Given the description of an element on the screen output the (x, y) to click on. 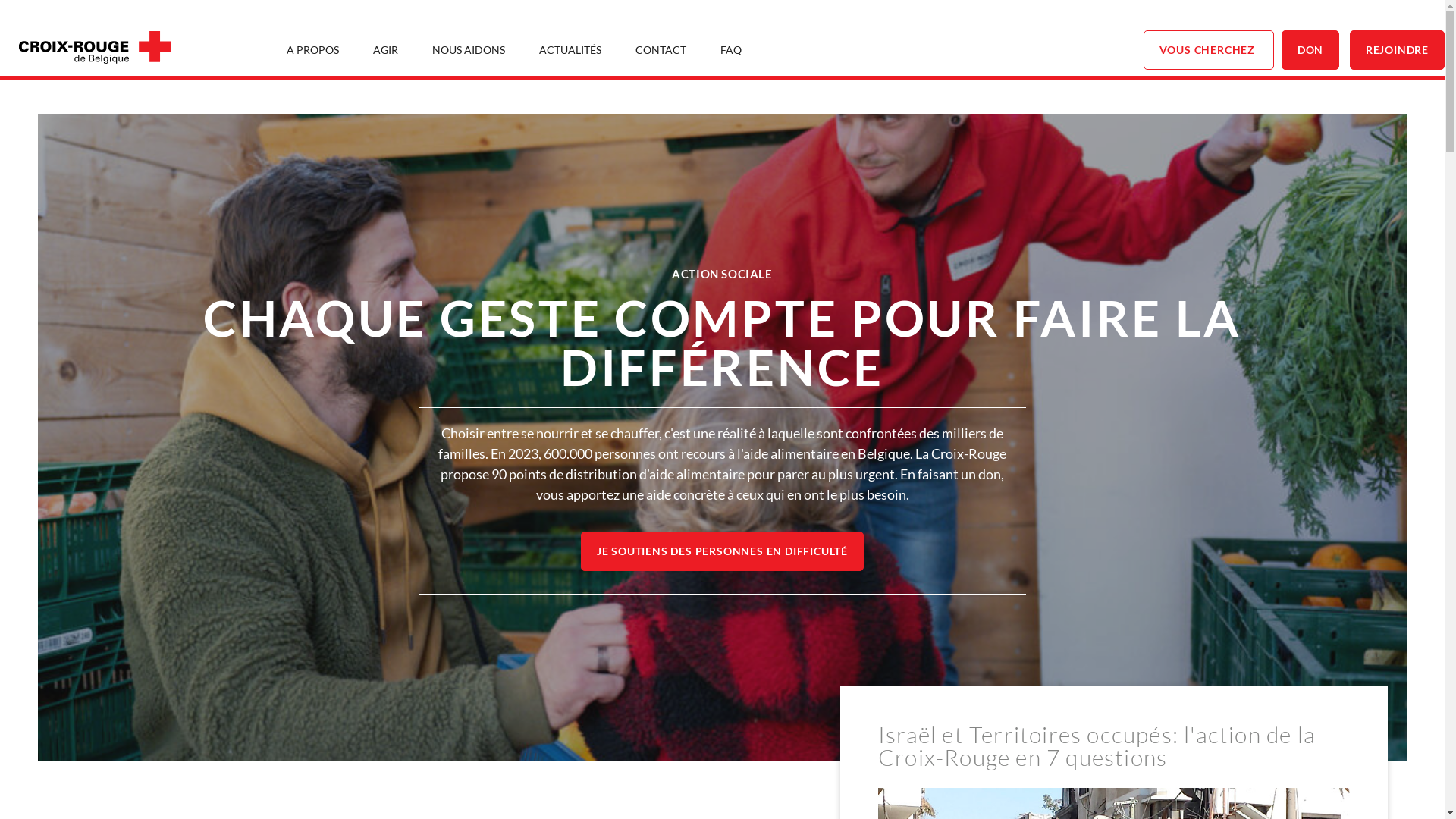
CROIX-ROUGE DE BELGIQUE Element type: text (78, 95)
FAQ Element type: text (730, 49)
NOTRE ORGANIGRAMME Element type: text (685, 95)
REJOINDRE Element type: text (1396, 49)
NOUS AIDONS Element type: text (468, 49)
NOS PRINCIPES Element type: text (356, 95)
VOUS CHERCHEZ Element type: text (1208, 49)
A PROPOS Element type: text (312, 49)
CONTACT Element type: text (660, 49)
DON Element type: text (1310, 49)
AGIR Element type: text (385, 49)
NOS VALEURS Element type: text (446, 95)
NOS MISSIONS Element type: text (263, 95)
HISTOIRE Element type: text (187, 95)
